Given the description of an element on the screen output the (x, y) to click on. 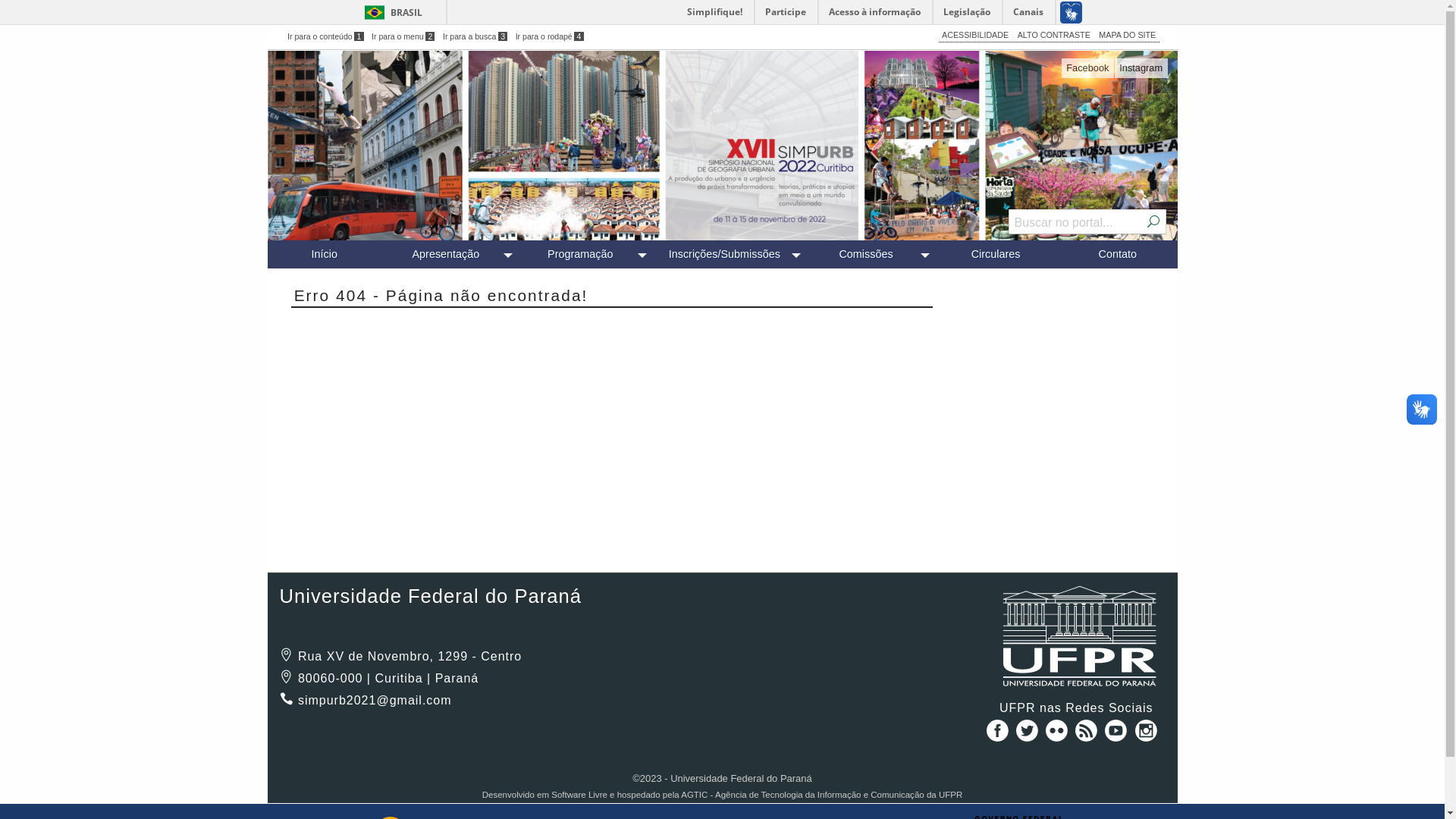
Ir para o menu2 Element type: text (403, 36)
BRASIL Element type: text (389, 12)
Facebook Element type: text (1087, 68)
Ir para a busca3 Element type: text (475, 36)
Logo da UFPR Element type: hover (1081, 637)
UFPR no Youtube Element type: hover (1117, 735)
Instagram Element type: text (1140, 68)
UFPR no Instagram Element type: hover (1145, 735)
MAPA DO SITE Element type: text (1126, 34)
Circulares Element type: text (995, 254)
UFPR no Facebook Element type: hover (994, 735)
RSS UFPR Element type: hover (1087, 735)
Contato Element type: text (1117, 254)
UFPR no Flickr Element type: hover (1058, 735)
ALTO CONTRASTE Element type: text (1053, 34)
ACESSIBILIDADE Element type: text (975, 34)
UFPR no Twitter Element type: hover (1028, 735)
